Given the description of an element on the screen output the (x, y) to click on. 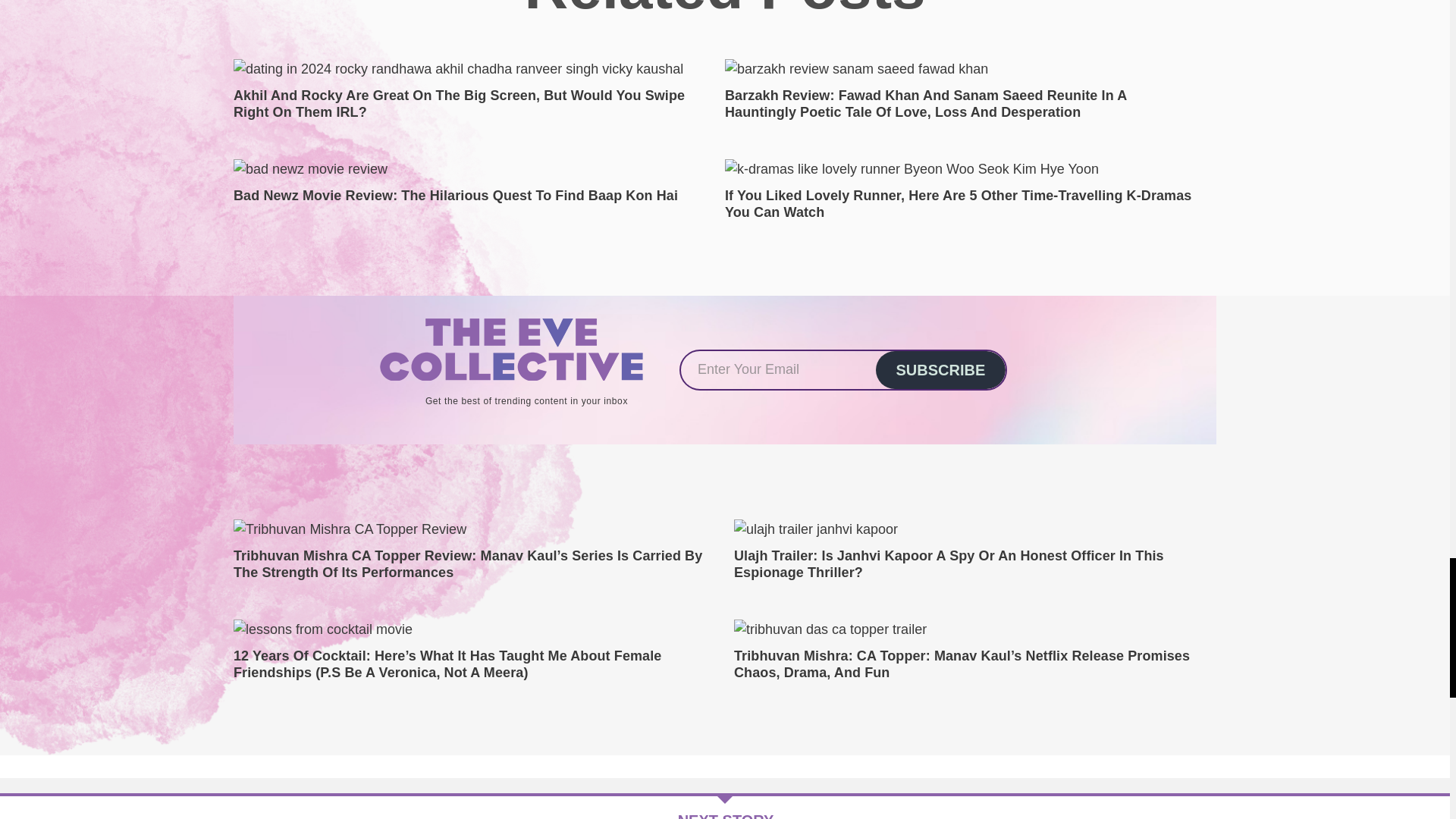
Subscribe (941, 370)
